Given the description of an element on the screen output the (x, y) to click on. 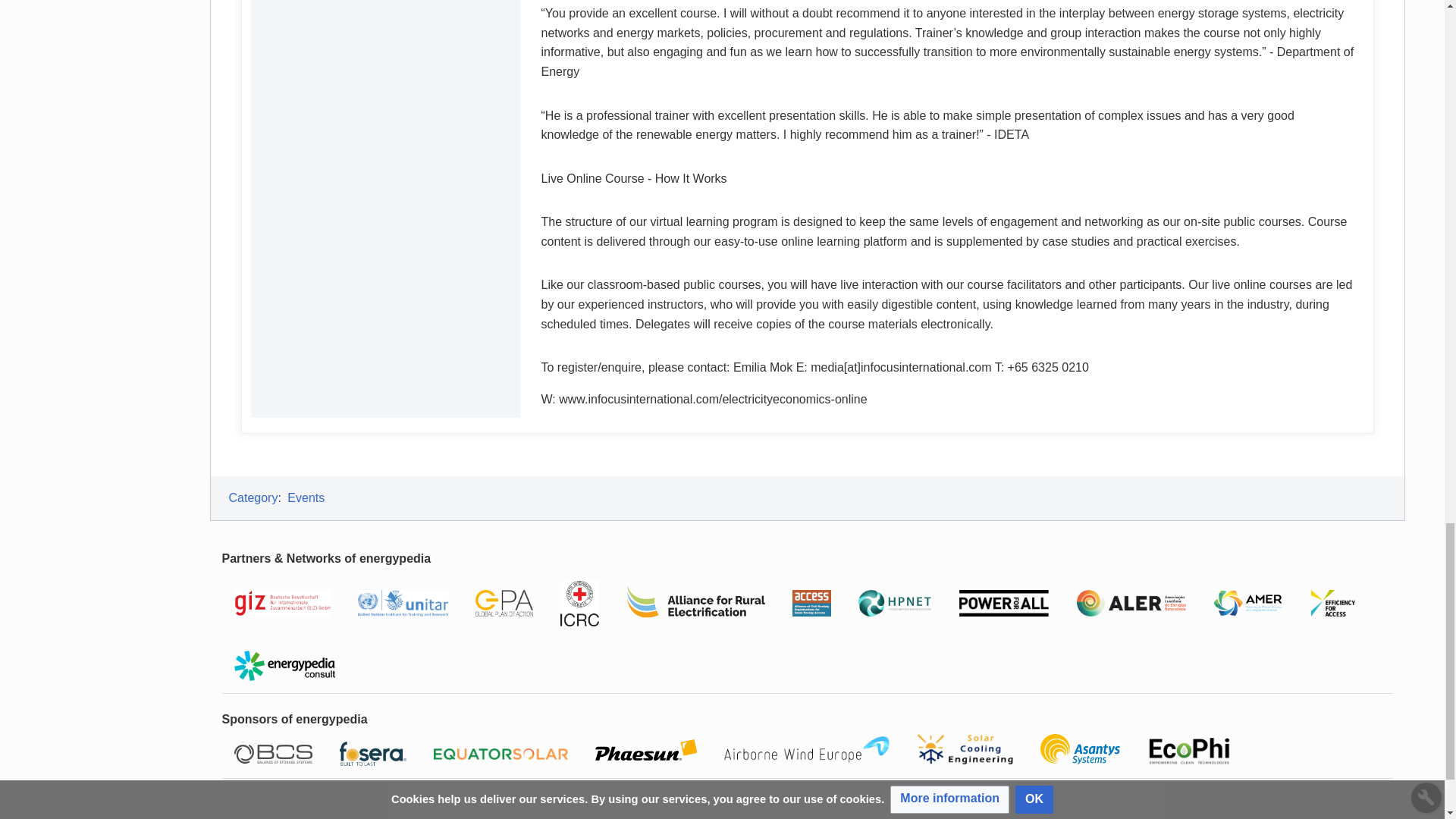
Category (253, 497)
Category:Events (305, 497)
Special:Categories (253, 497)
Events (305, 497)
